Given the description of an element on the screen output the (x, y) to click on. 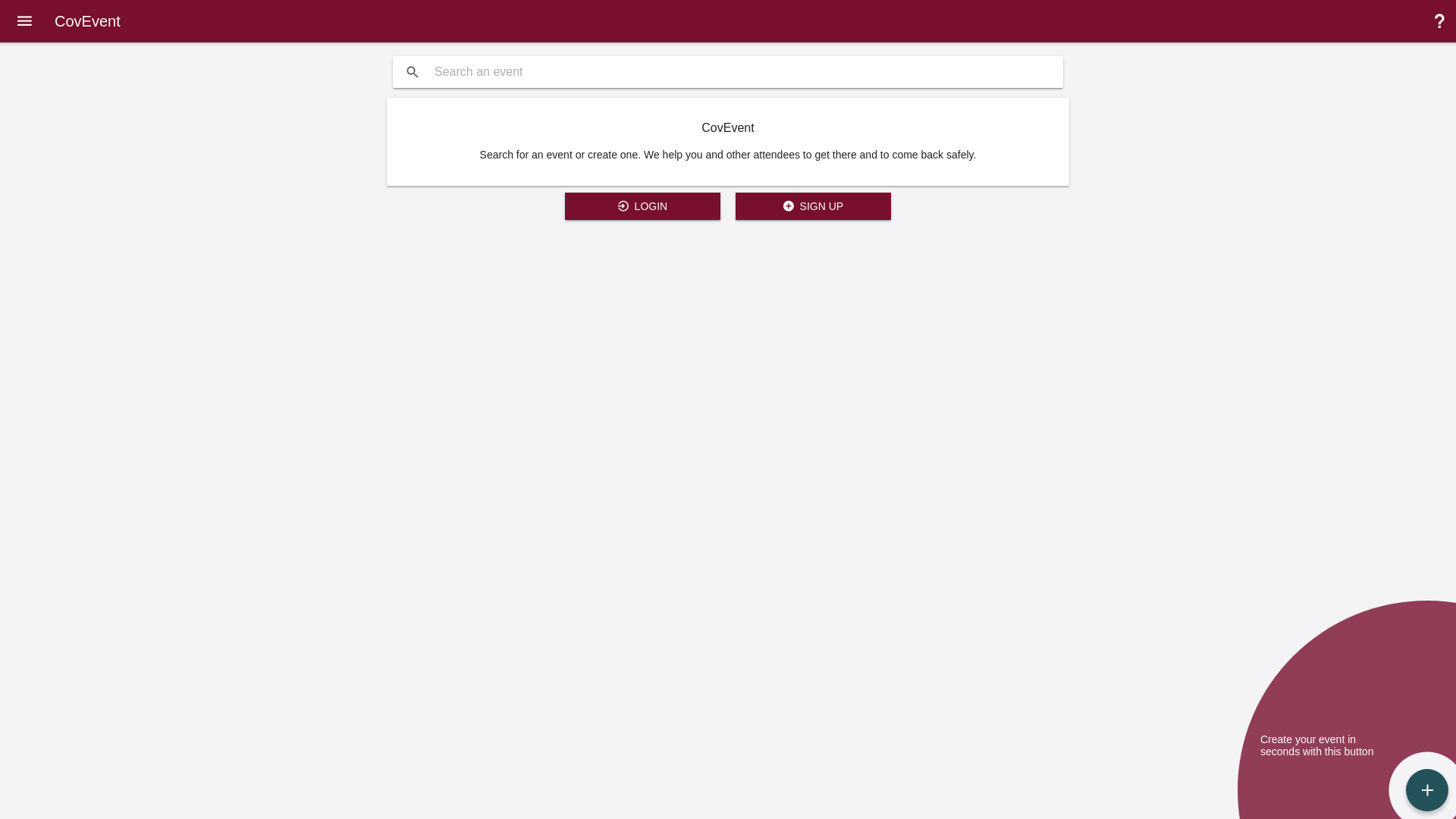
  SIGN UP Element type: text (813, 205)
  LOGIN Element type: text (642, 205)
